Given the description of an element on the screen output the (x, y) to click on. 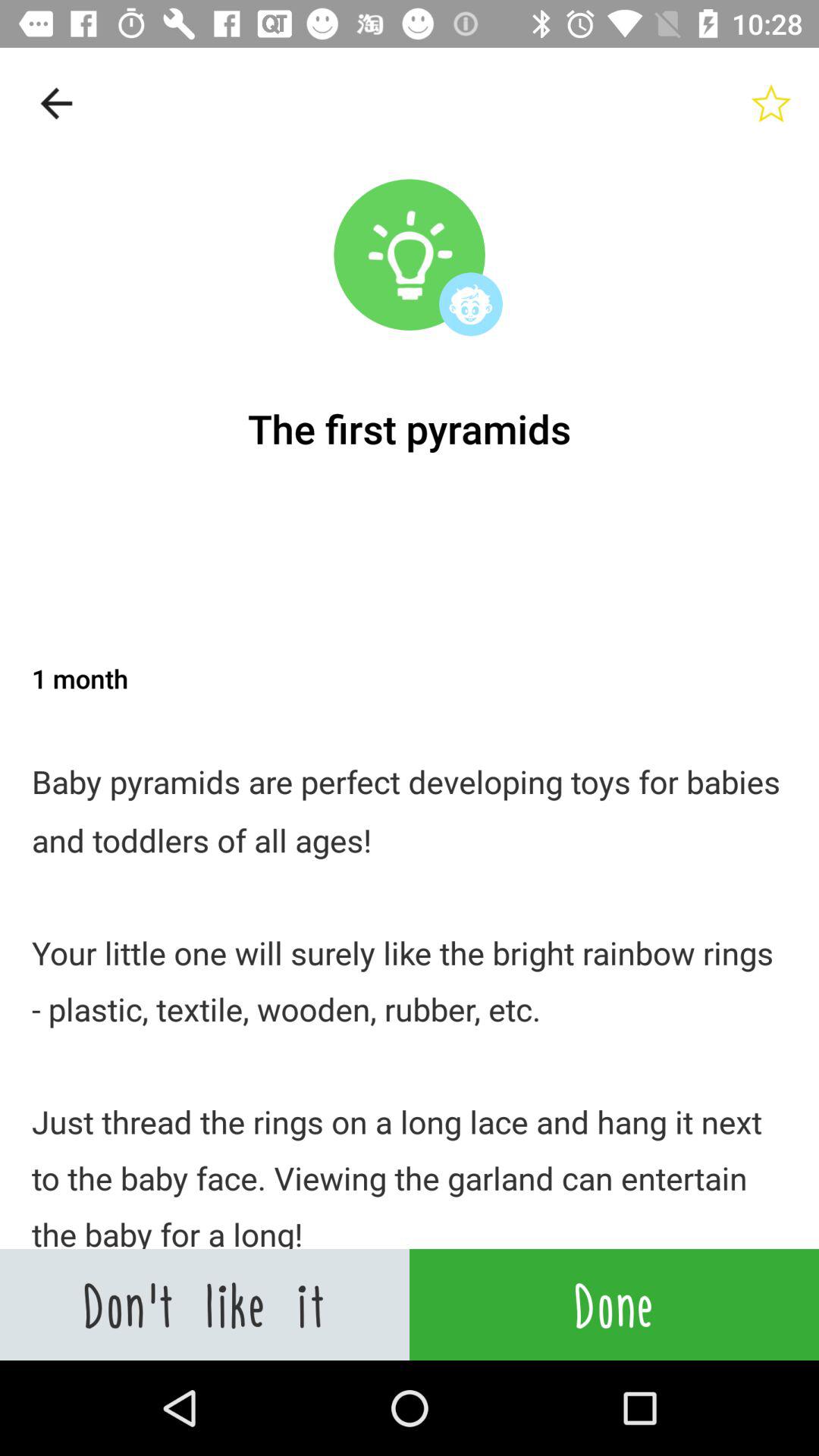
turn off the icon at the top right corner (771, 103)
